Given the description of an element on the screen output the (x, y) to click on. 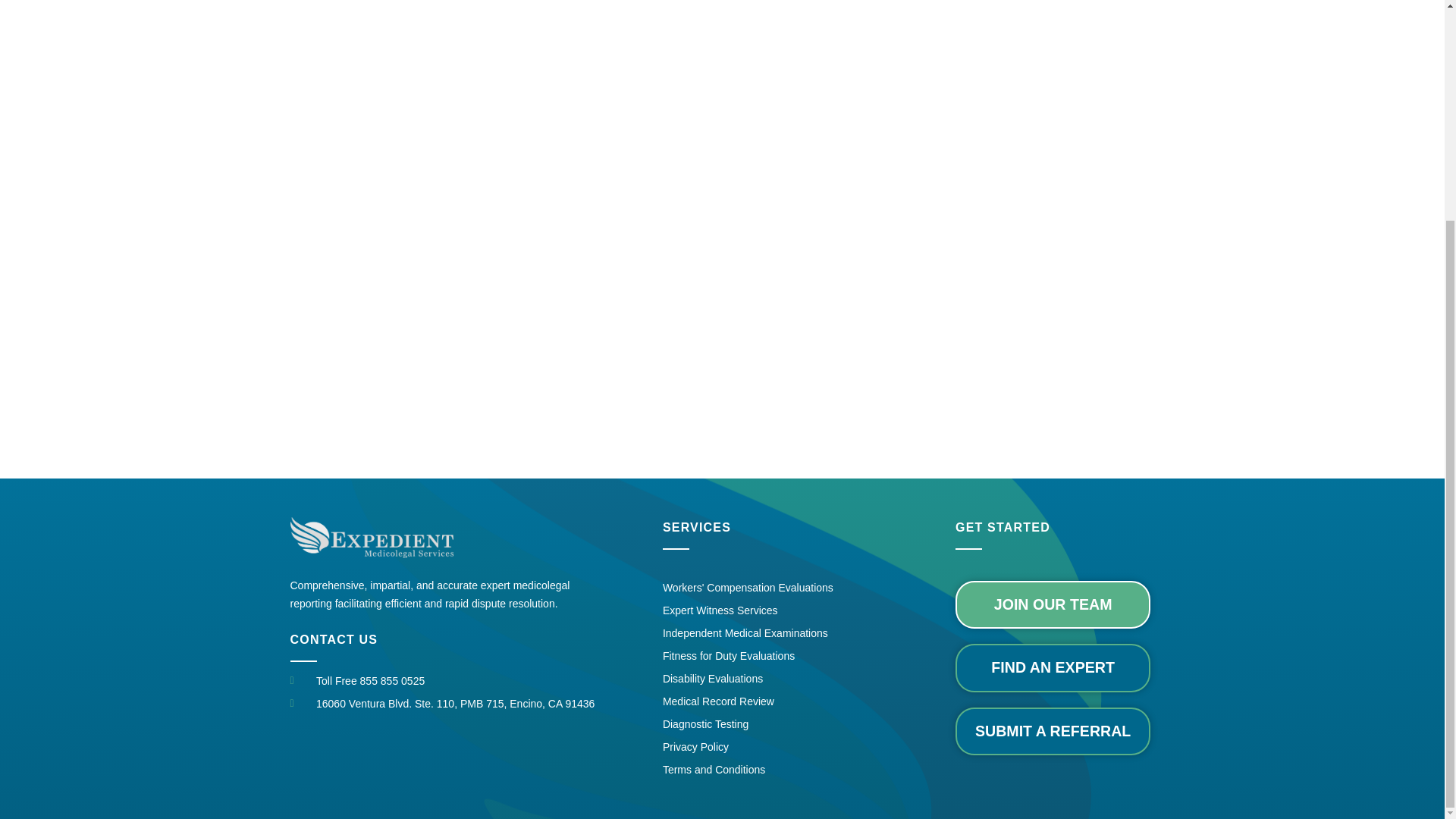
Independent Medical Examinations (747, 632)
Toll Free 855 855 0525 (464, 680)
Disability Evaluations (747, 678)
Fitness for Duty Evaluations (747, 655)
Diagnostic Testing (747, 723)
CONTACT US (333, 639)
Terms and Conditions (747, 769)
Expert Witness Services (747, 609)
Privacy Policy (747, 746)
Workers' Compensation Evaluations (747, 587)
